Given the description of an element on the screen output the (x, y) to click on. 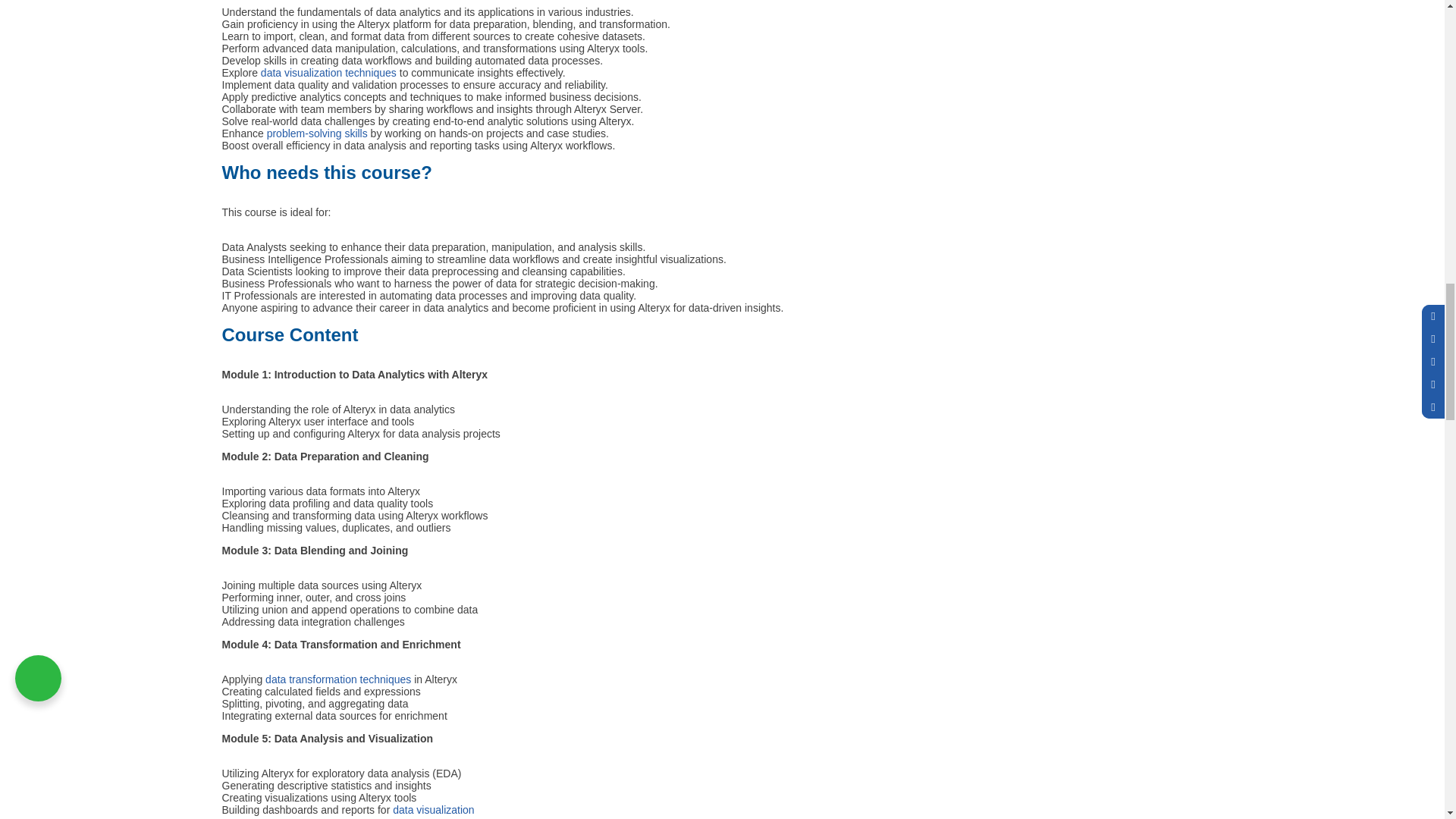
data visualization techniques (328, 72)
data visualization (433, 809)
problem-solving skills (317, 133)
data transformation techniques (338, 679)
